Given the description of an element on the screen output the (x, y) to click on. 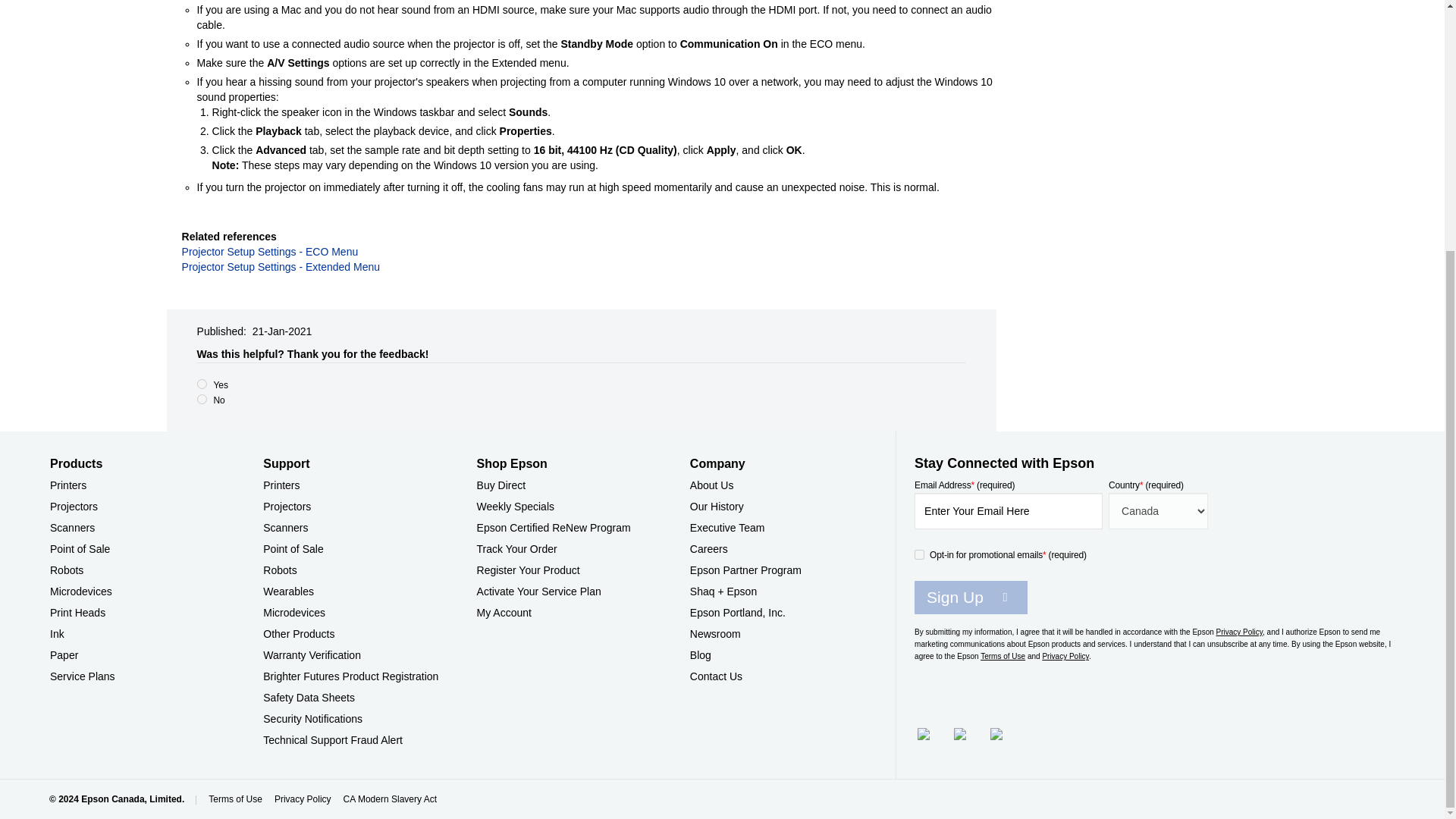
yes (201, 384)
no (201, 398)
on (919, 554)
